Given the description of an element on the screen output the (x, y) to click on. 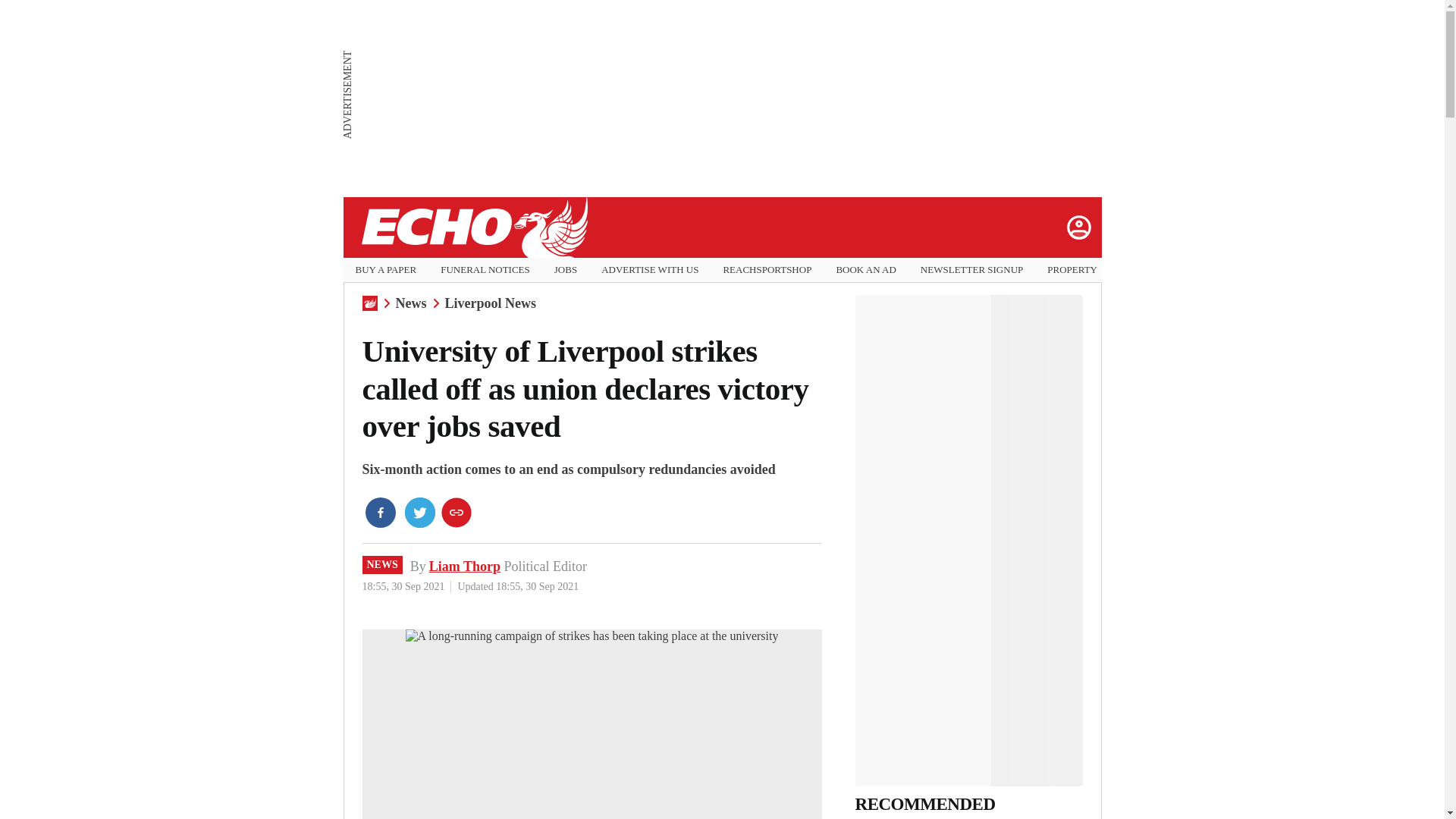
Liverpool News (489, 303)
BUY A PAPER (385, 270)
JOBS (565, 270)
FUNERAL NOTICES (485, 270)
NEWS (382, 565)
copy link (456, 512)
NEWSLETTER SIGNUP (971, 270)
News (411, 303)
REACHSPORTSHOP (766, 270)
Liam Thorp (464, 566)
ADVERTISE WITH US (649, 270)
BOOK AN AD (865, 270)
PROPERTY (1071, 270)
avatar (1077, 227)
Go to the Liverpool Echo homepage (473, 227)
